Given the description of an element on the screen output the (x, y) to click on. 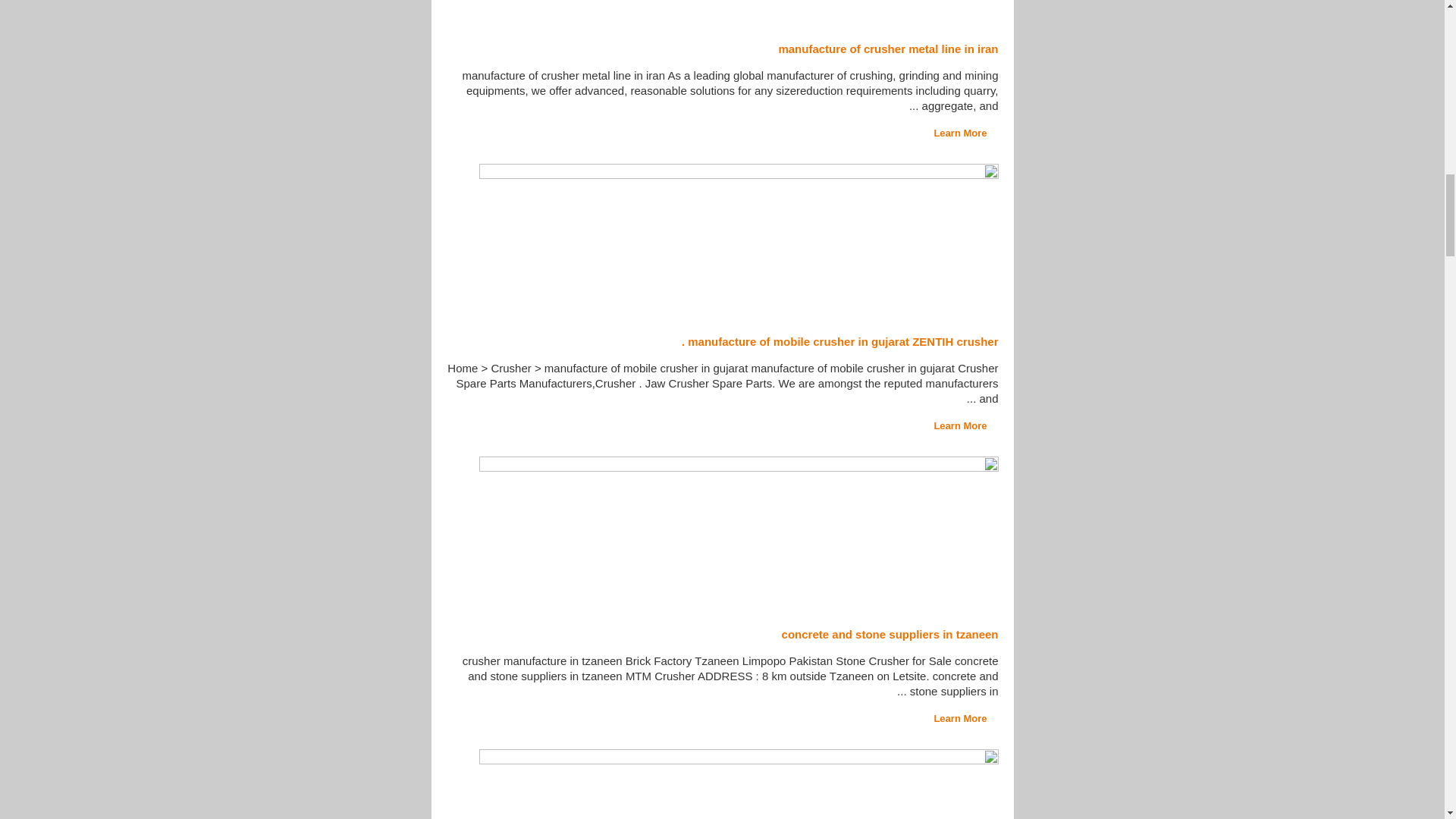
Learn More (965, 717)
Learn More (965, 132)
Learn More (965, 425)
